Given the description of an element on the screen output the (x, y) to click on. 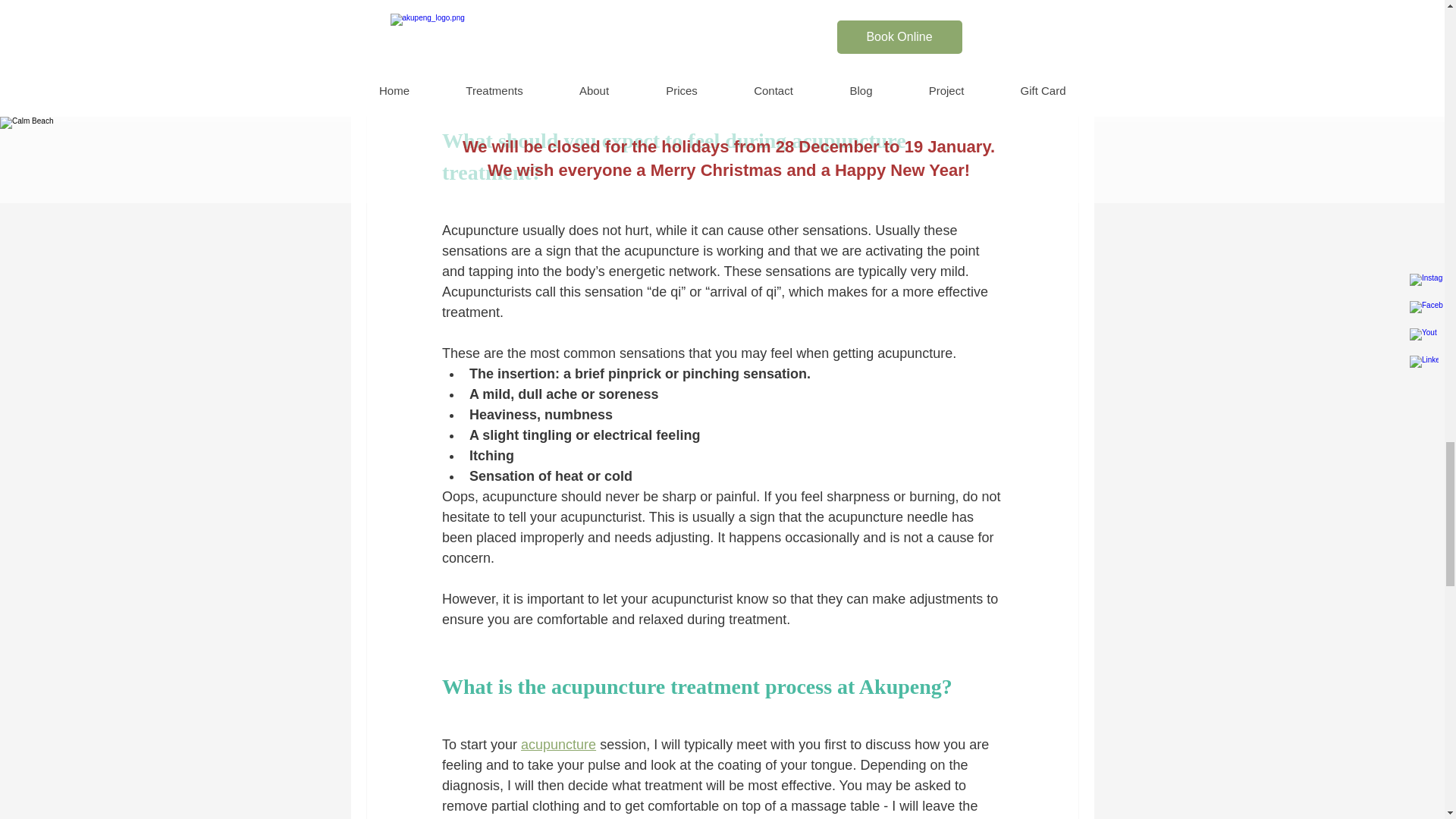
acupuncture (558, 744)
